Given the description of an element on the screen output the (x, y) to click on. 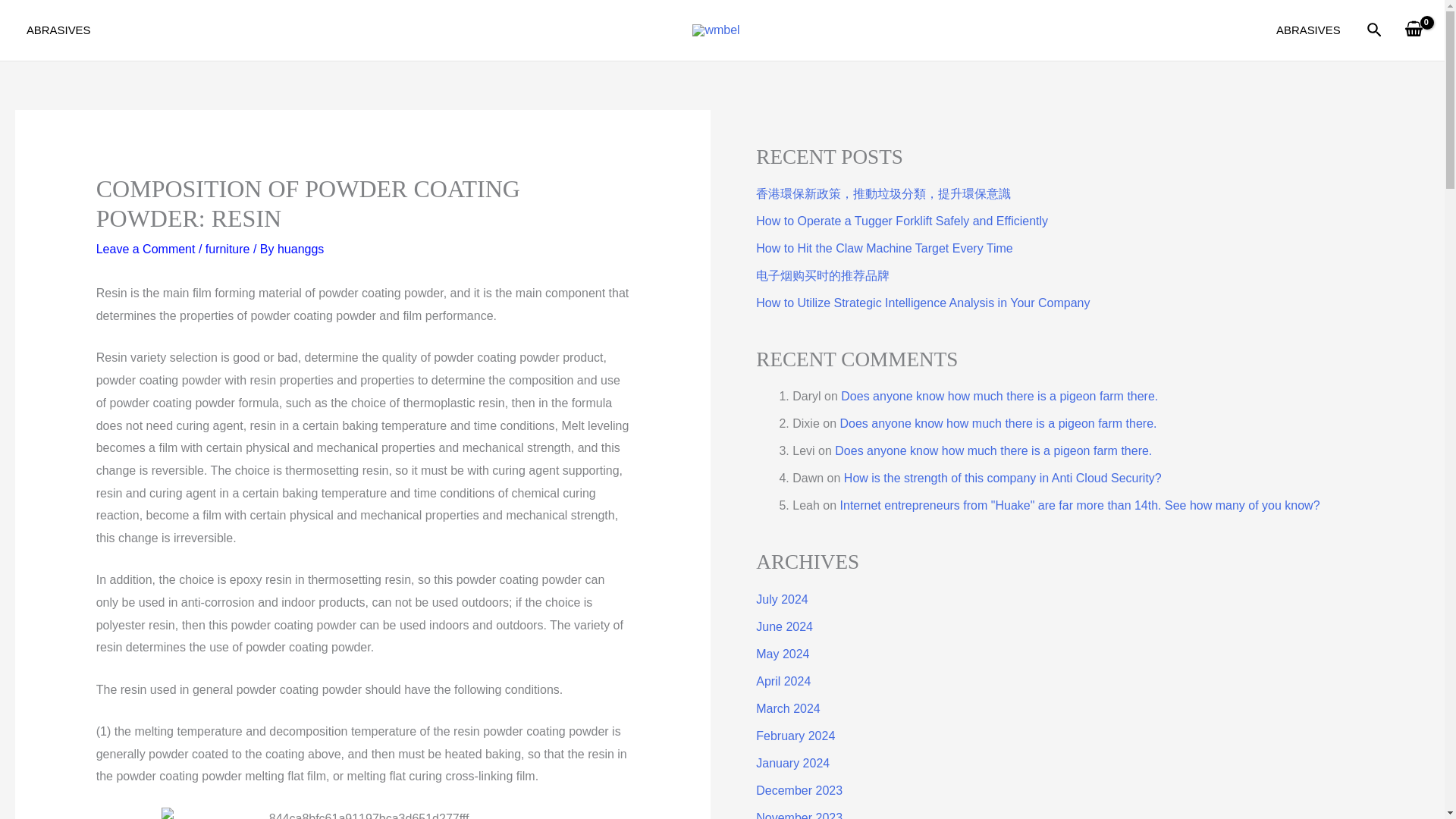
How is the strength of this company in Anti Cloud Security? (1002, 477)
How to Hit the Claw Machine Target Every Time (884, 247)
July 2024 (781, 599)
January 2024 (792, 762)
June 2024 (783, 626)
Does anyone know how much there is a pigeon farm there. (992, 450)
December 2023 (799, 789)
ABRASIVES (57, 30)
Does anyone know how much there is a pigeon farm there. (998, 422)
Leave a Comment (145, 248)
ABRASIVES (1308, 30)
April 2024 (782, 680)
huanggs (300, 248)
How to Operate a Tugger Forklift Safely and Efficiently (901, 220)
